Given the description of an element on the screen output the (x, y) to click on. 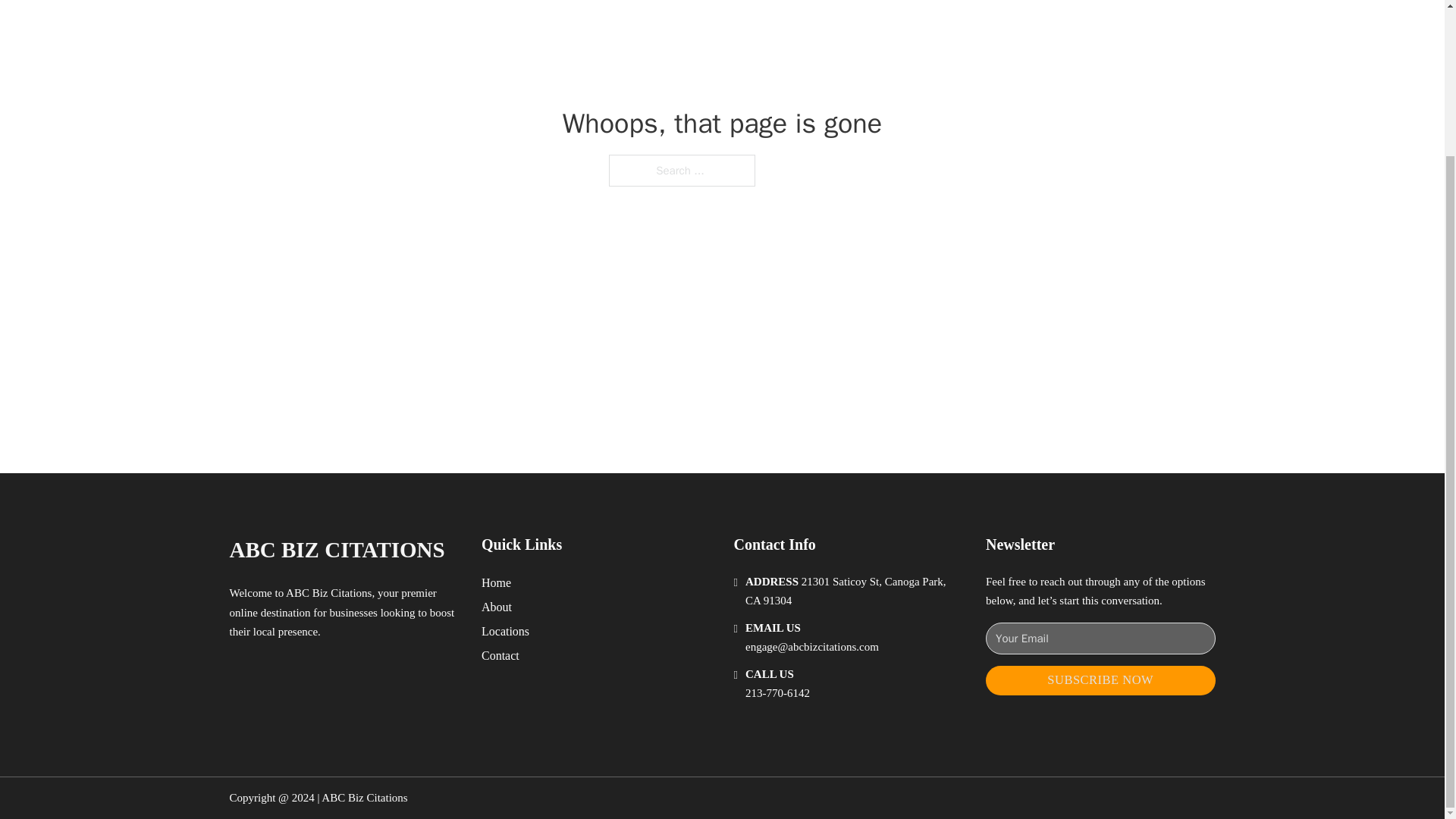
SUBSCRIBE NOW (1100, 680)
Home (496, 582)
ABC BIZ CITATIONS (336, 549)
About (496, 607)
Locations (505, 630)
213-770-6142 (777, 693)
Contact (500, 655)
